Given the description of an element on the screen output the (x, y) to click on. 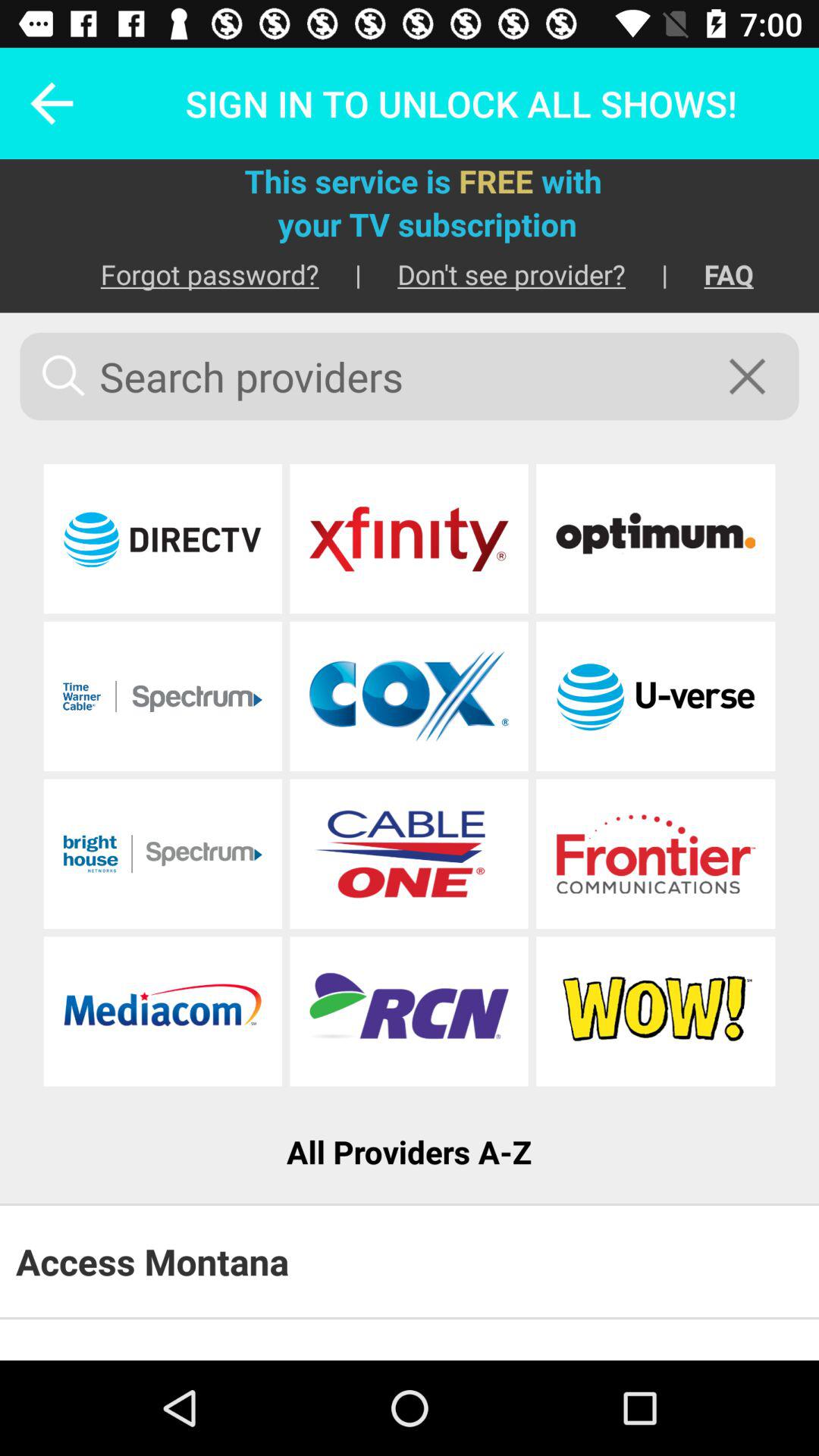
select xfinity (408, 538)
